Given the description of an element on the screen output the (x, y) to click on. 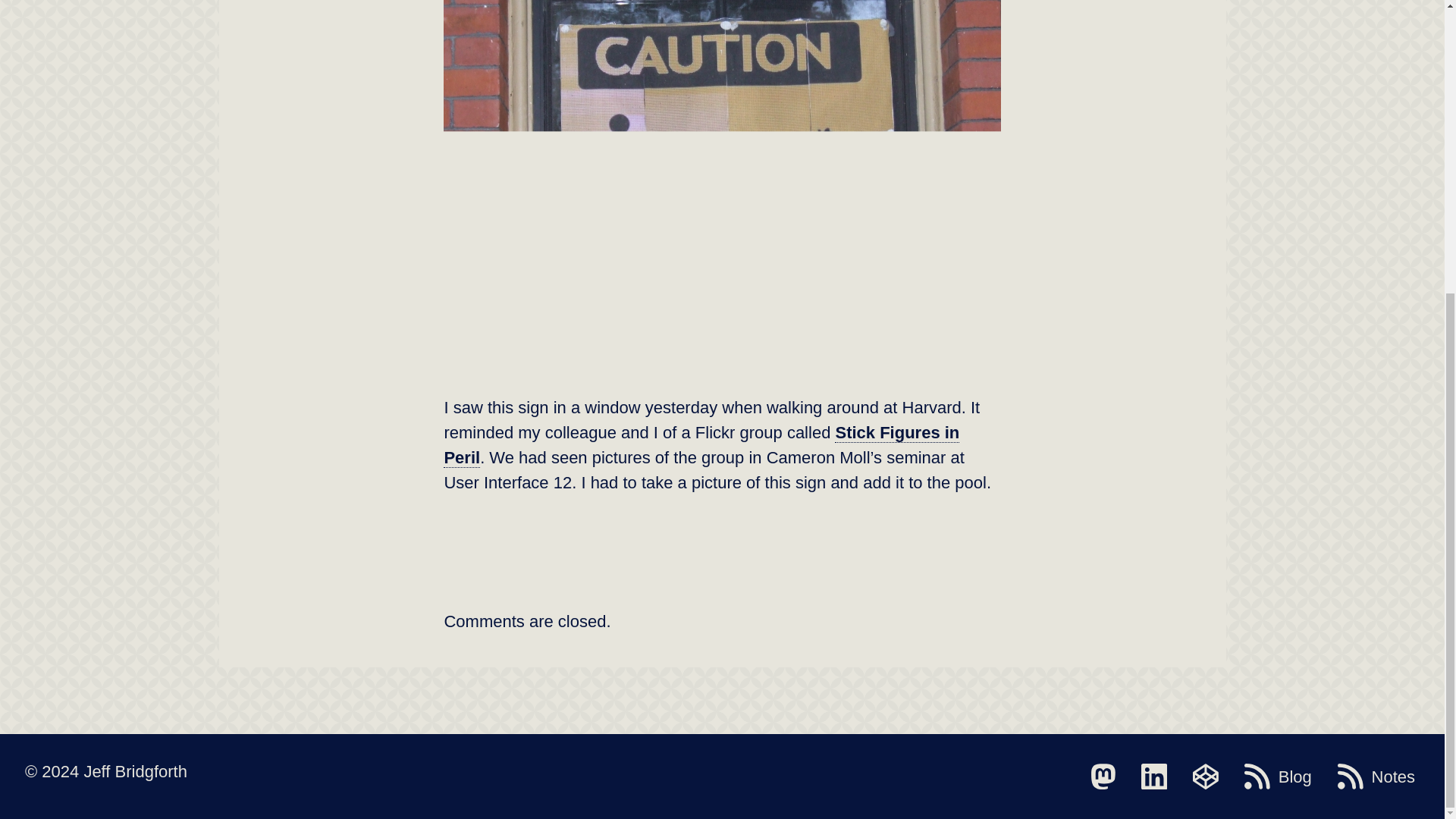
Notes (1376, 776)
LinkedIn (1154, 776)
Codepen (1205, 776)
Stick Figures in Peril (701, 445)
Stick Figures in Peril Group Pool on Flickr (701, 445)
Mastodon (1102, 776)
Blog (1278, 776)
